Given the description of an element on the screen output the (x, y) to click on. 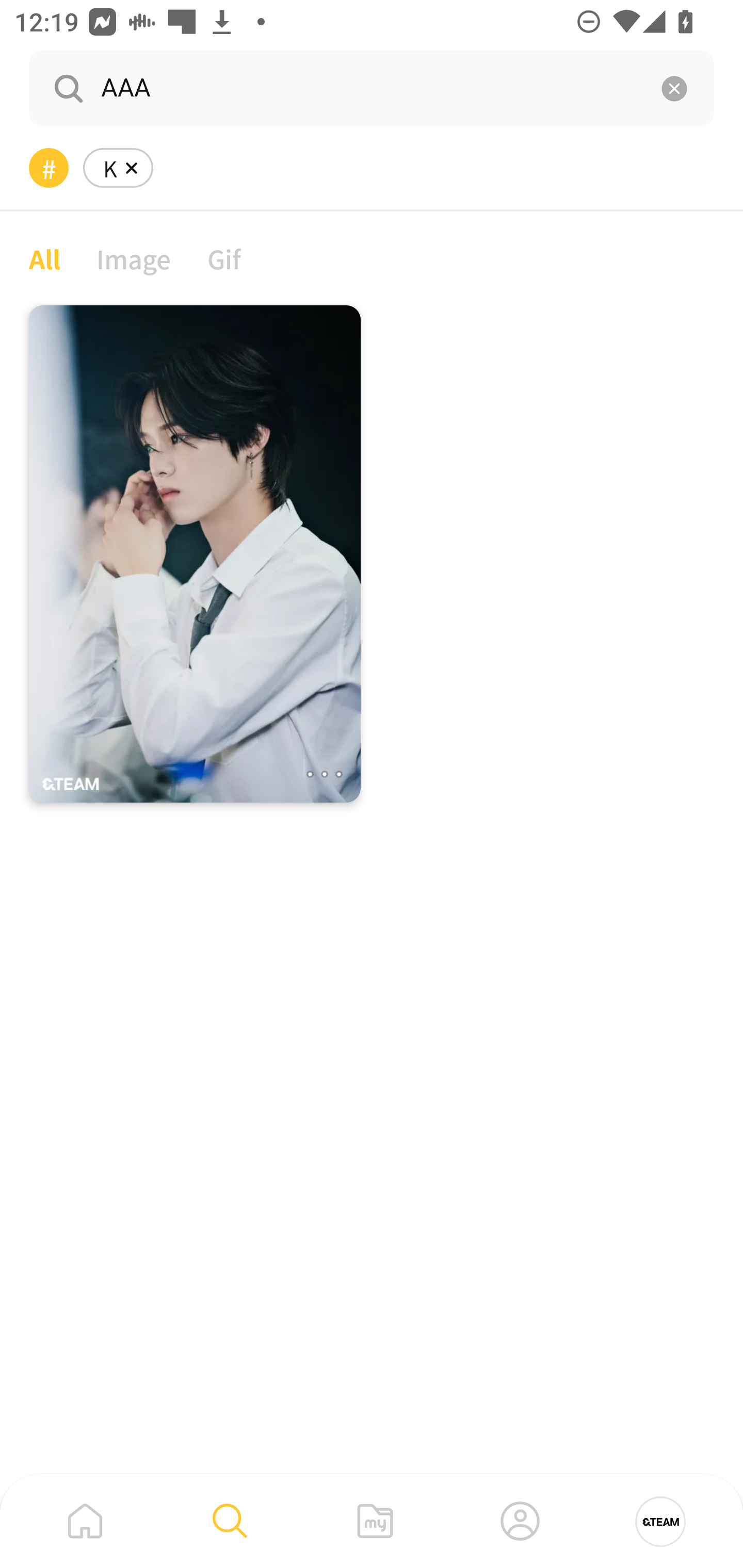
All (44, 257)
Image (133, 257)
Gif (223, 257)
